Given the description of an element on the screen output the (x, y) to click on. 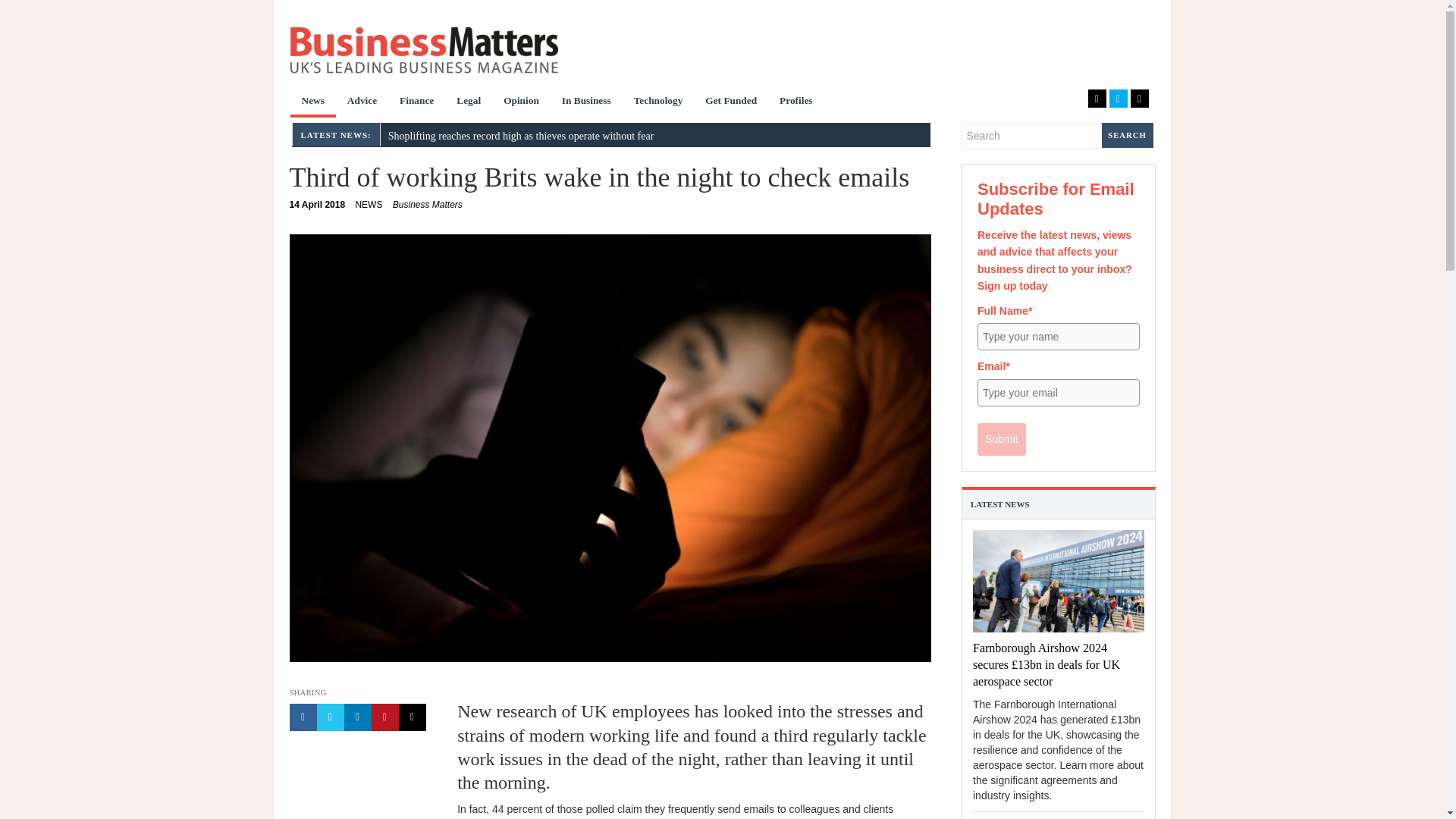
Business Matters (428, 204)
NEWS (368, 204)
Business Matters (423, 50)
Technology (658, 101)
In Business (586, 101)
Finance (416, 101)
14 April 2018 (317, 204)
Get Funded (731, 101)
Advice (362, 101)
News (311, 101)
Opinion (521, 101)
Legal (468, 101)
Profiles (796, 101)
